Given the description of an element on the screen output the (x, y) to click on. 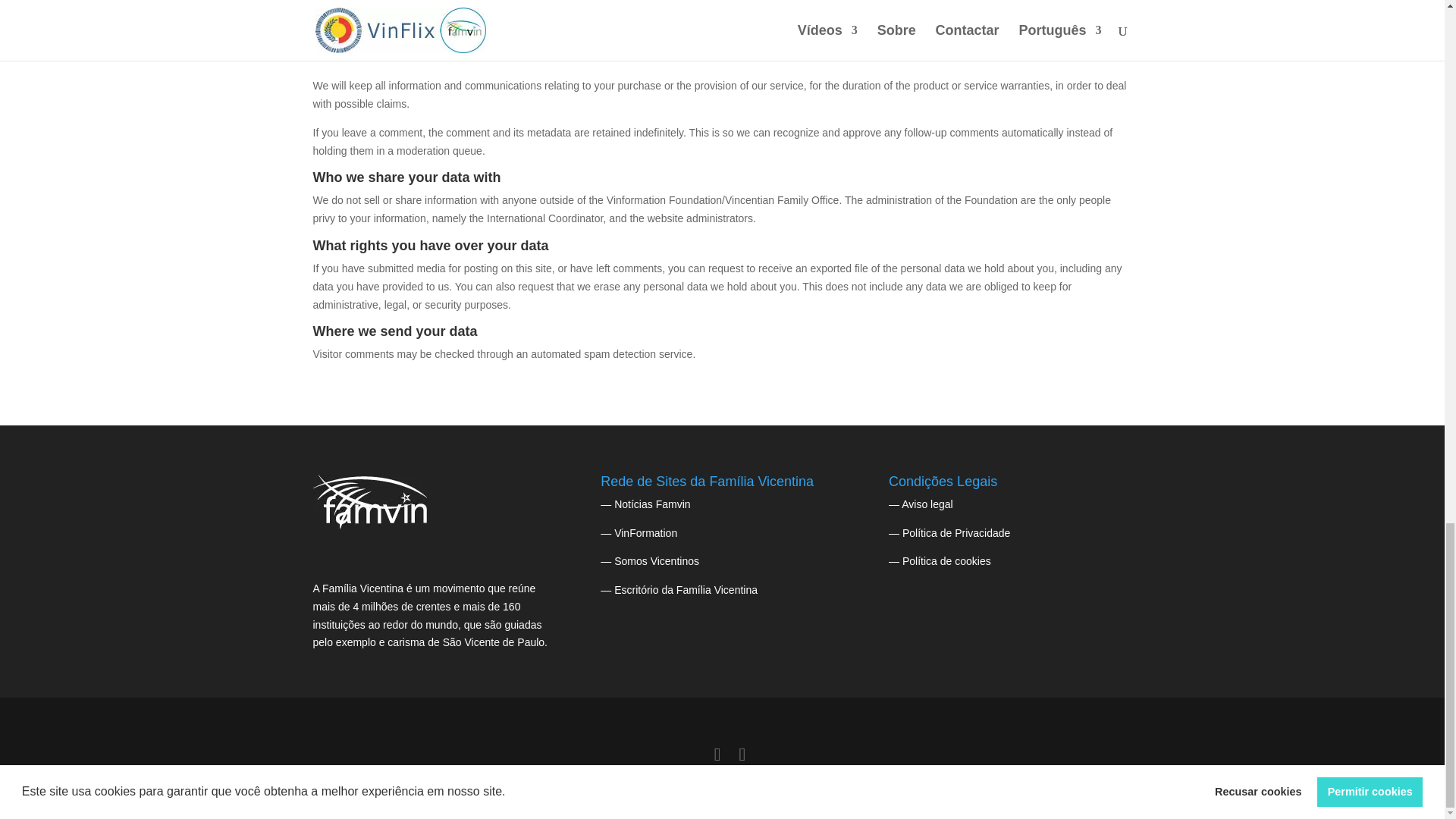
VinFormation (645, 532)
Somos Vicentinos (656, 561)
Aviso legal (926, 503)
